Given the description of an element on the screen output the (x, y) to click on. 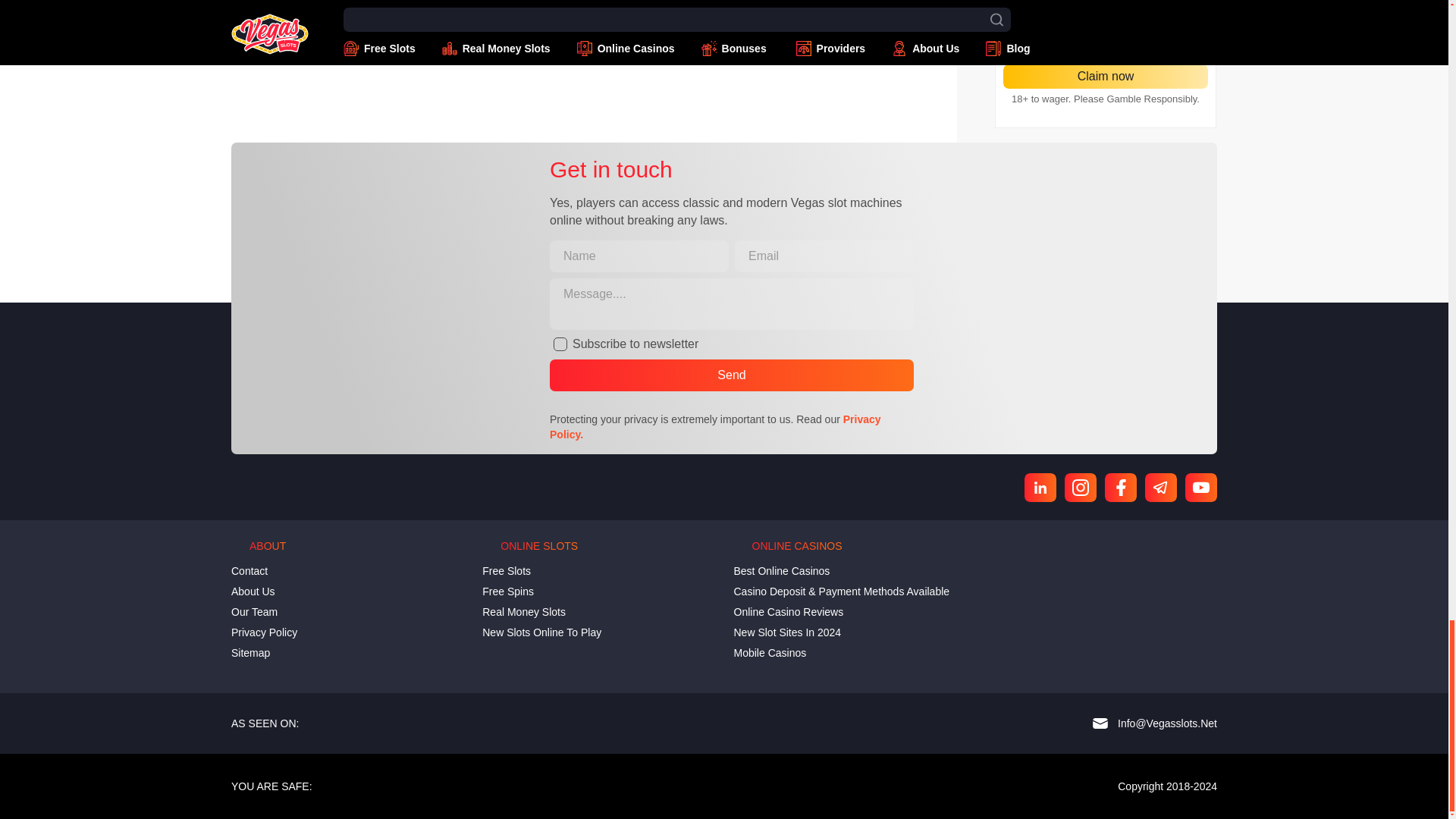
Send (732, 375)
